Given the description of an element on the screen output the (x, y) to click on. 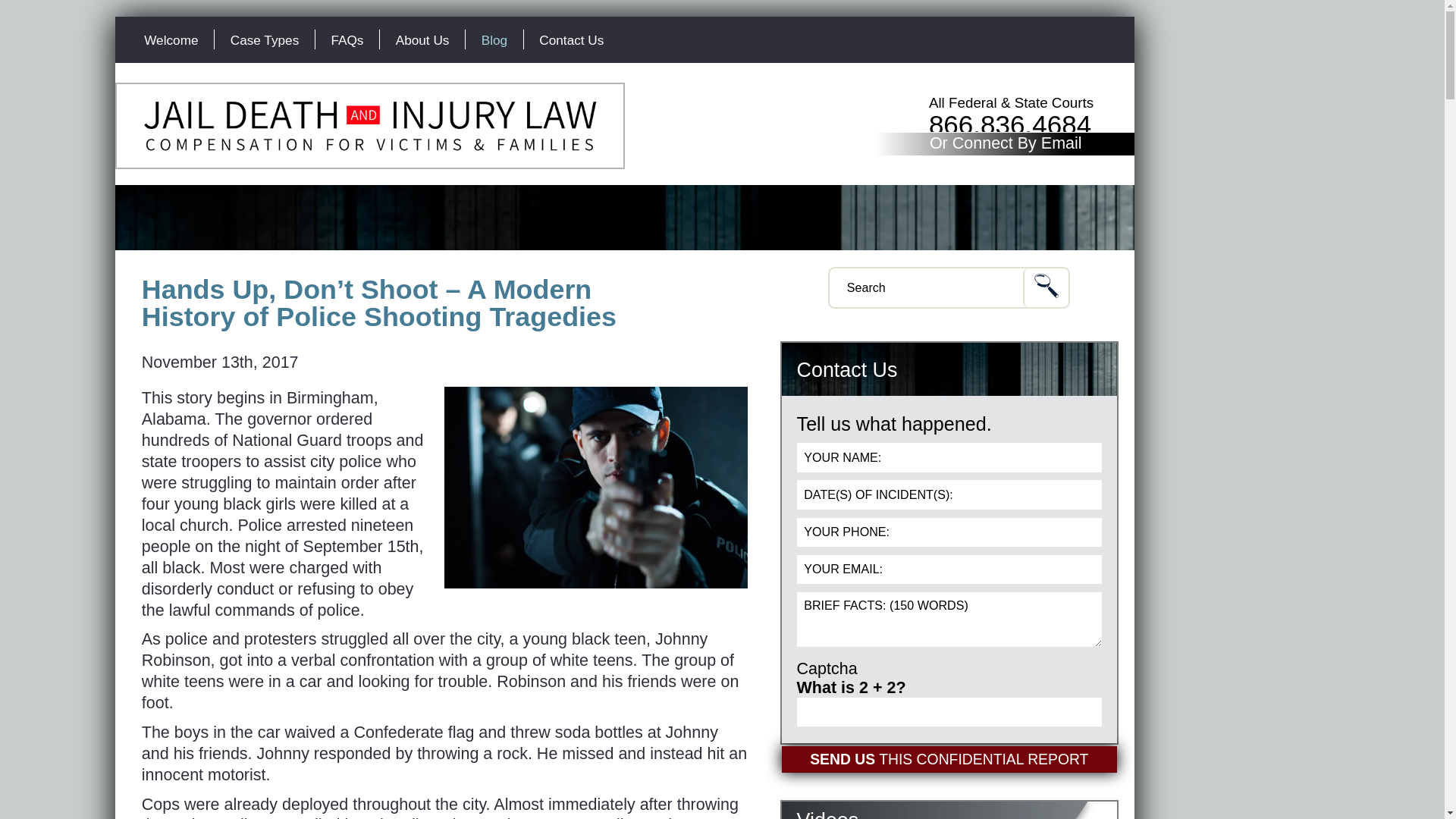
Blog (493, 39)
Welcome (171, 39)
Case Types (264, 39)
Contact Us (572, 39)
Case Types (264, 39)
866.836.4684 (1009, 124)
Welcome (171, 39)
About Us (422, 39)
FAQs (346, 39)
Or Connect By Email (1006, 143)
